Given the description of an element on the screen output the (x, y) to click on. 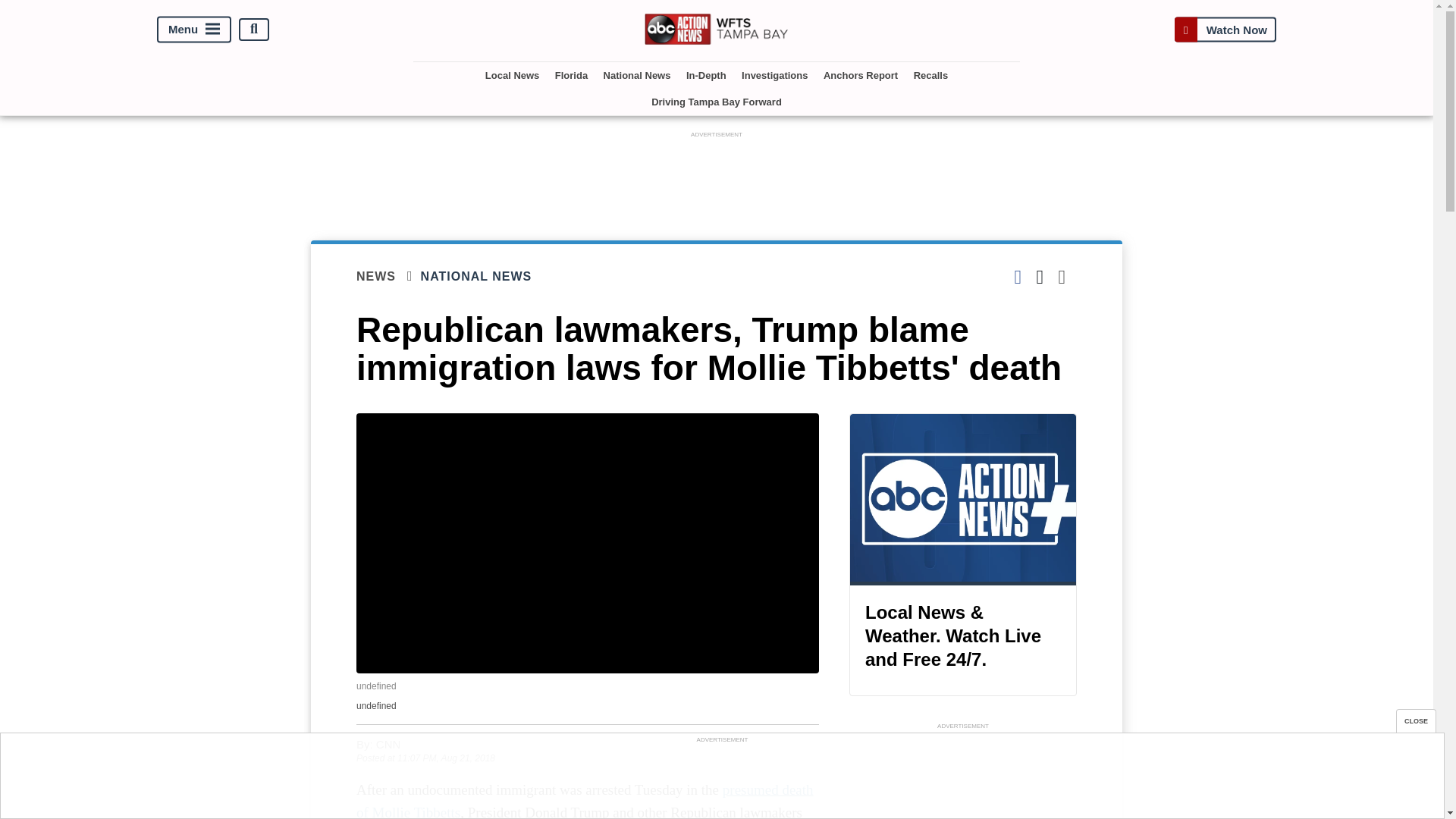
3rd party ad content (716, 175)
3rd party ad content (721, 780)
Menu (194, 28)
3rd party ad content (962, 776)
Watch Now (1224, 29)
